Given the description of an element on the screen output the (x, y) to click on. 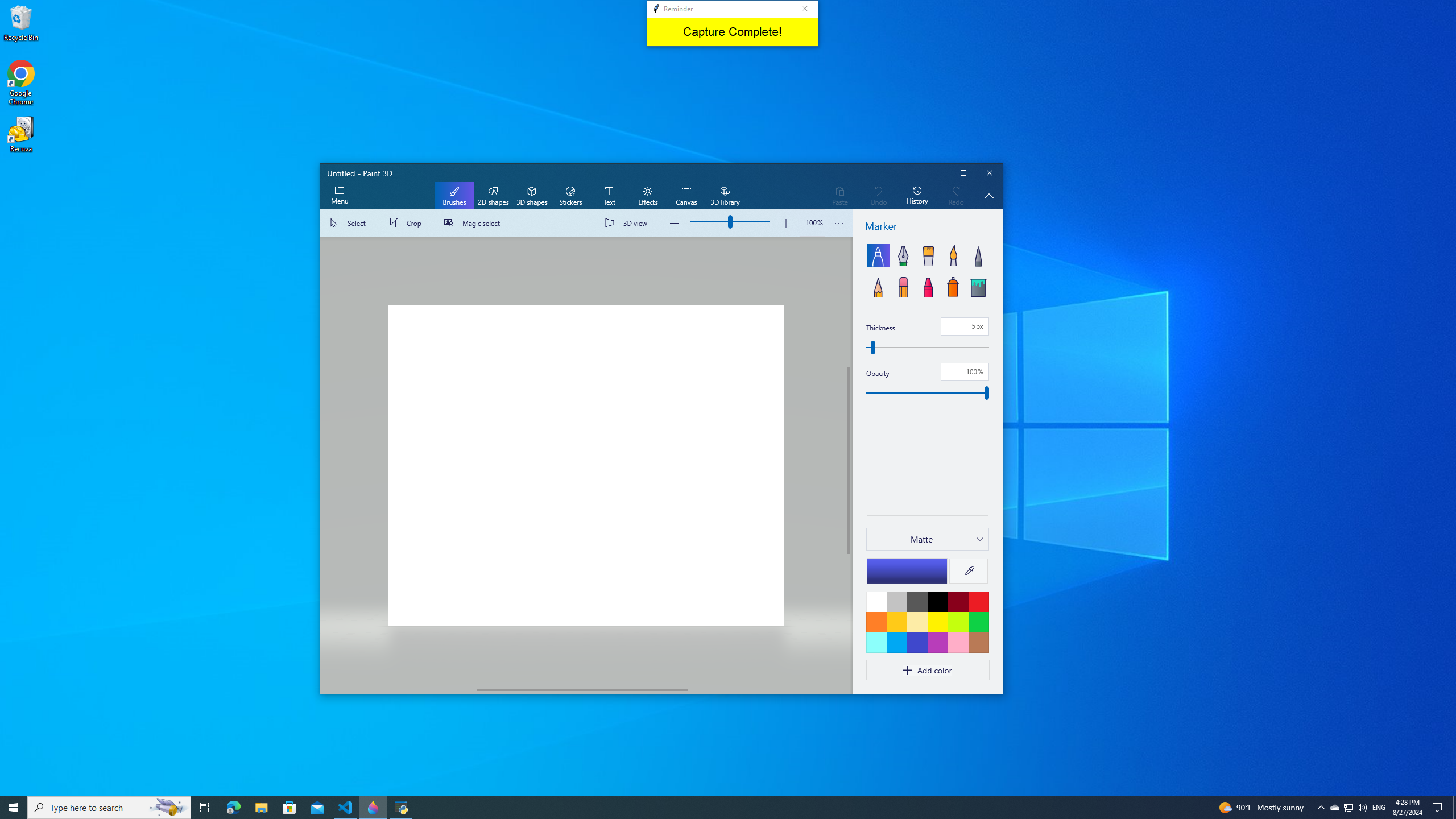
Vertical (848, 460)
Light grey (896, 601)
Opacity, percent (927, 393)
Dark red (957, 601)
Indigo (917, 642)
Vertical Large Decrease (848, 301)
Choose a material (927, 538)
Brown (978, 642)
